Given the description of an element on the screen output the (x, y) to click on. 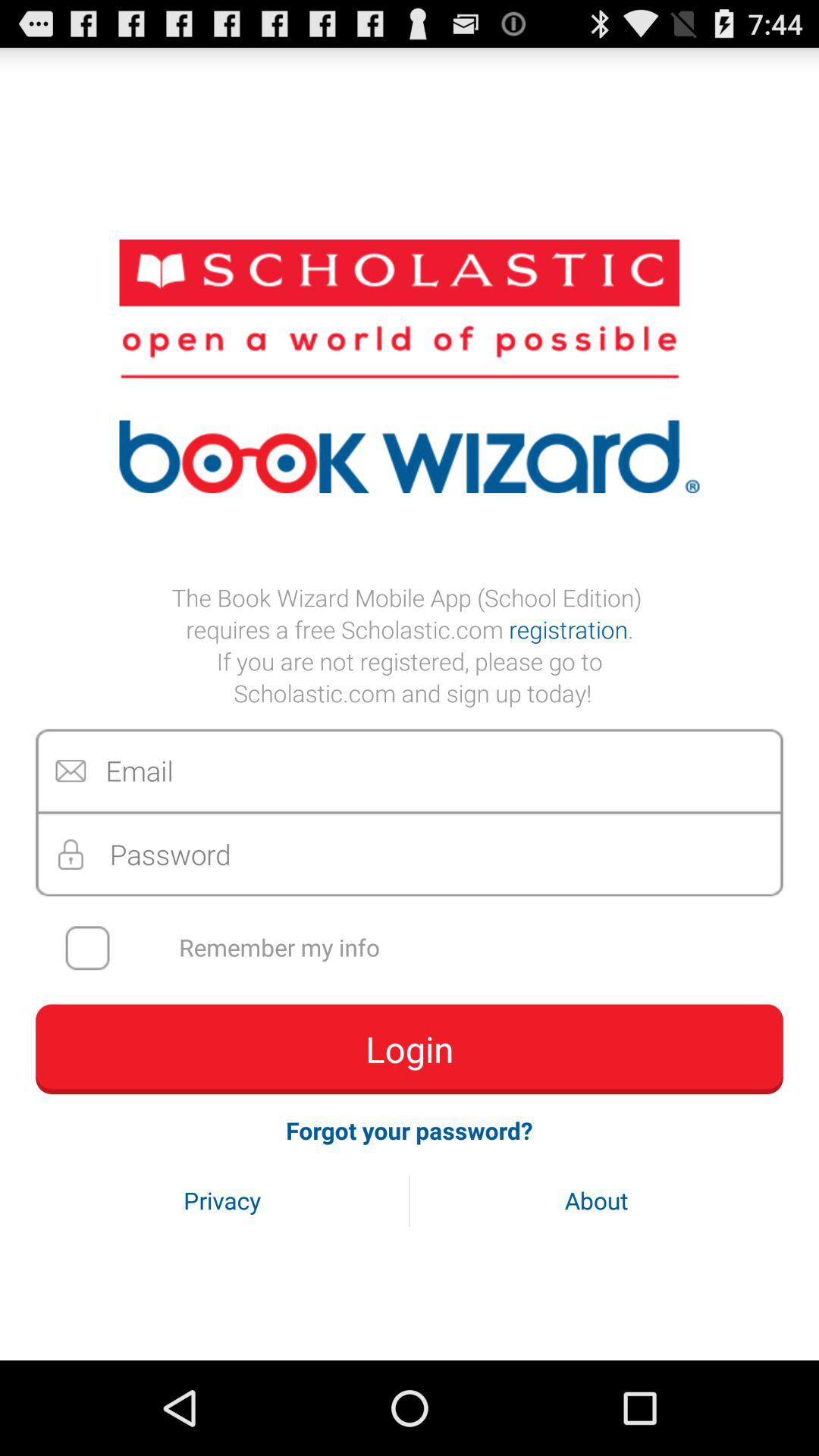
turn on the remember my info item (419, 947)
